Given the description of an element on the screen output the (x, y) to click on. 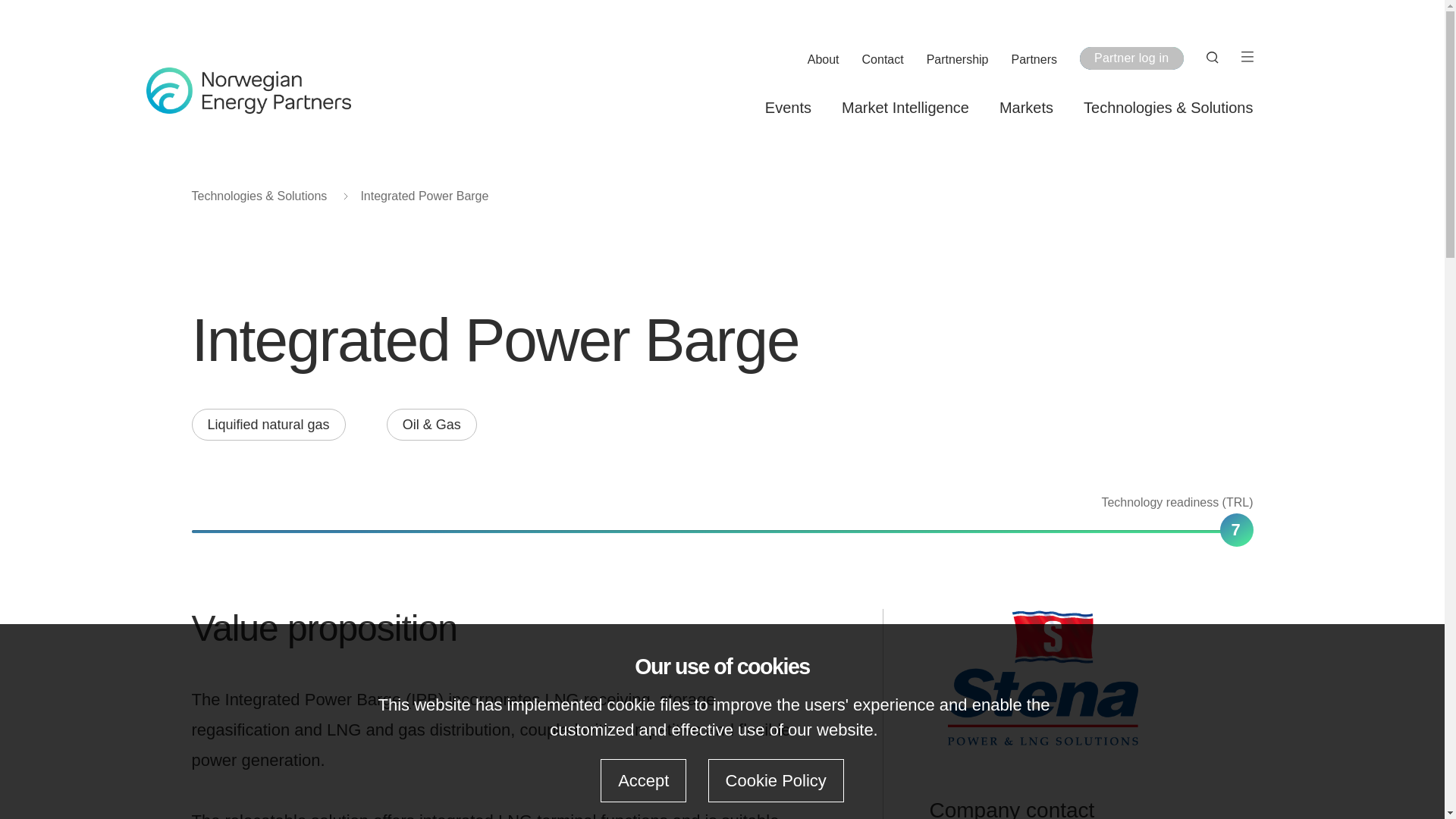
Partner log in (1131, 57)
About (824, 60)
Events (787, 107)
Partnership (957, 60)
Markets (1025, 107)
Market Intelligence (905, 107)
Partners (1034, 60)
Contact (882, 60)
